Given the description of an element on the screen output the (x, y) to click on. 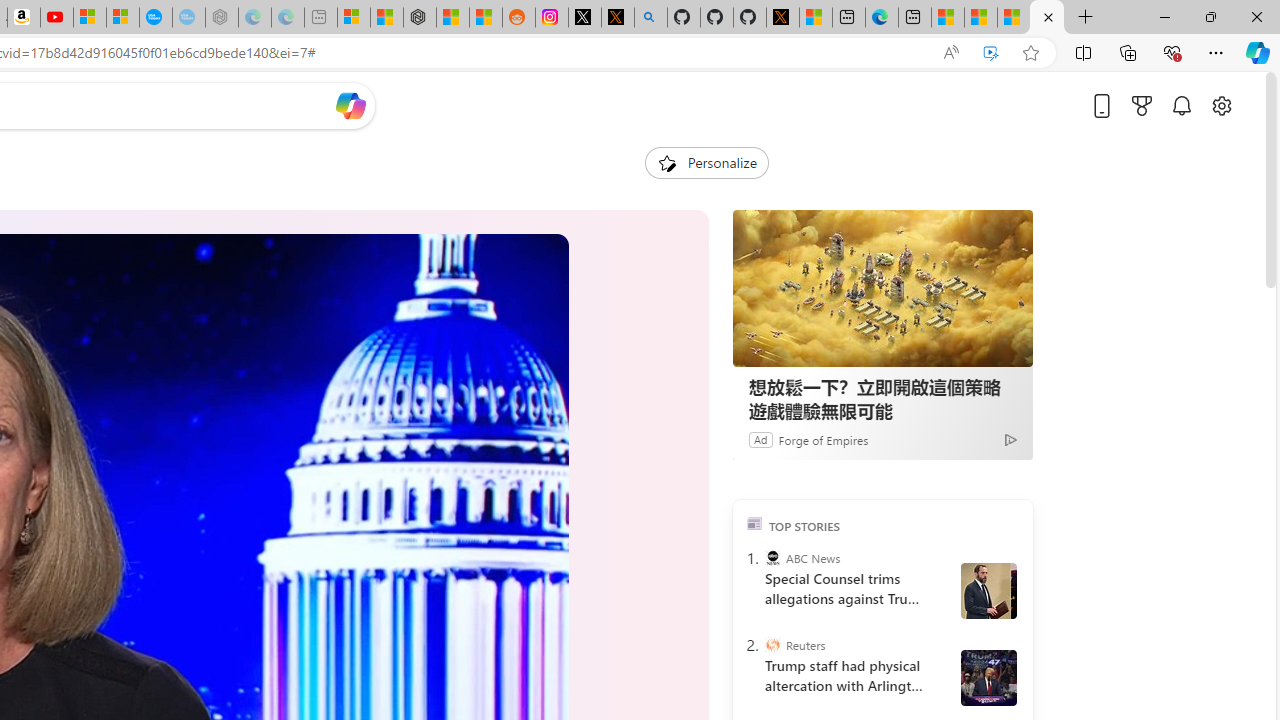
Log in to X / X (585, 17)
Open settings (1221, 105)
New tab - Sleeping (320, 17)
Notifications (1181, 105)
